Given the description of an element on the screen output the (x, y) to click on. 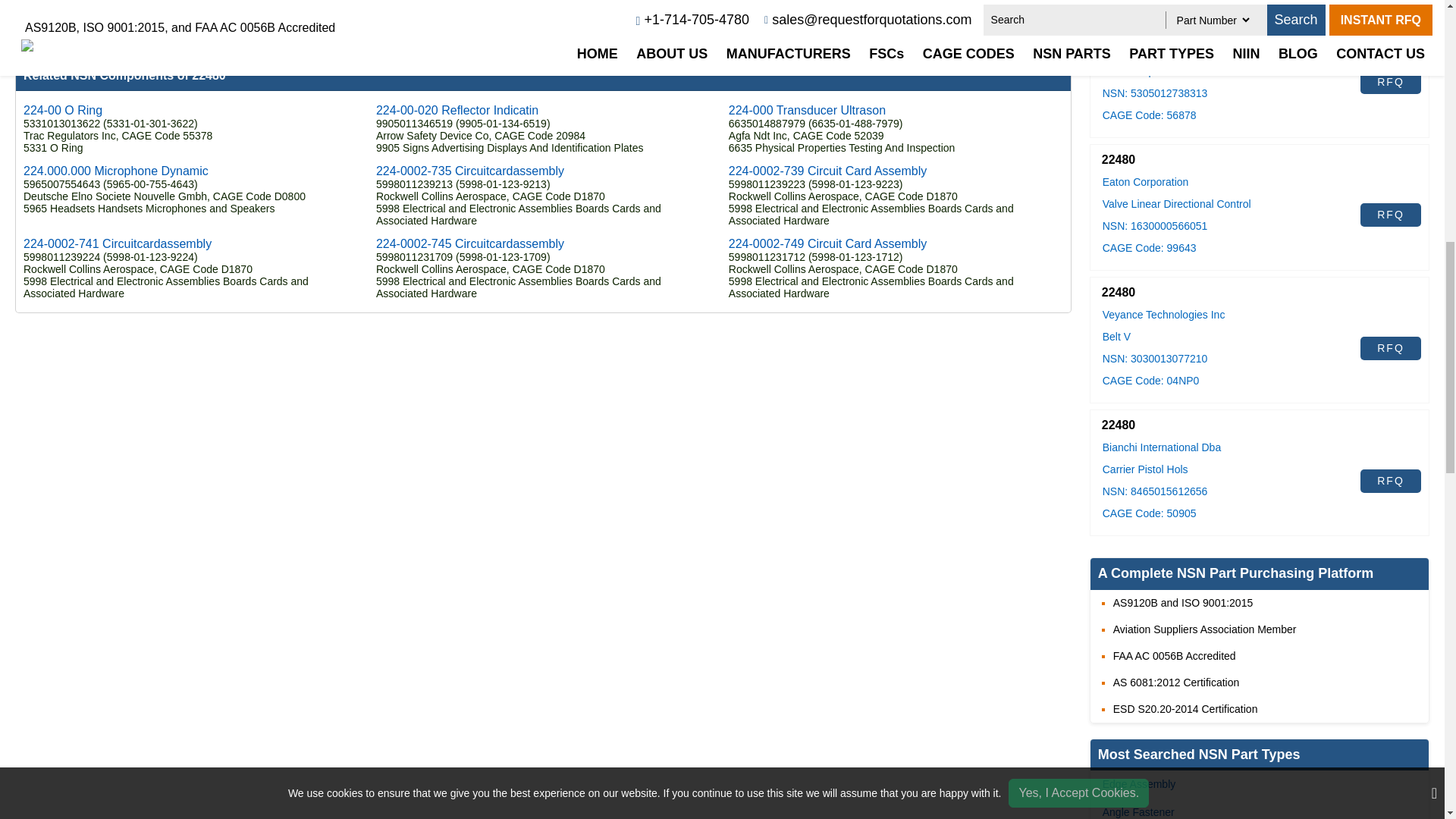
224.000.000 Microphone Dynamic (115, 170)
224-0002-735 Circuitcardassembly (469, 170)
224-0002-739 Circuit Card Assembly (827, 170)
224-0002-749 Circuit Card Assembly (827, 243)
224-00-020 Reflector Indicatin (456, 110)
224-0002-745 Circuitcardassembly (469, 243)
224-000 Transducer Ultrason (807, 110)
224-0002-741 Circuitcardassembly (117, 243)
224-00 O Ring (62, 110)
